Given the description of an element on the screen output the (x, y) to click on. 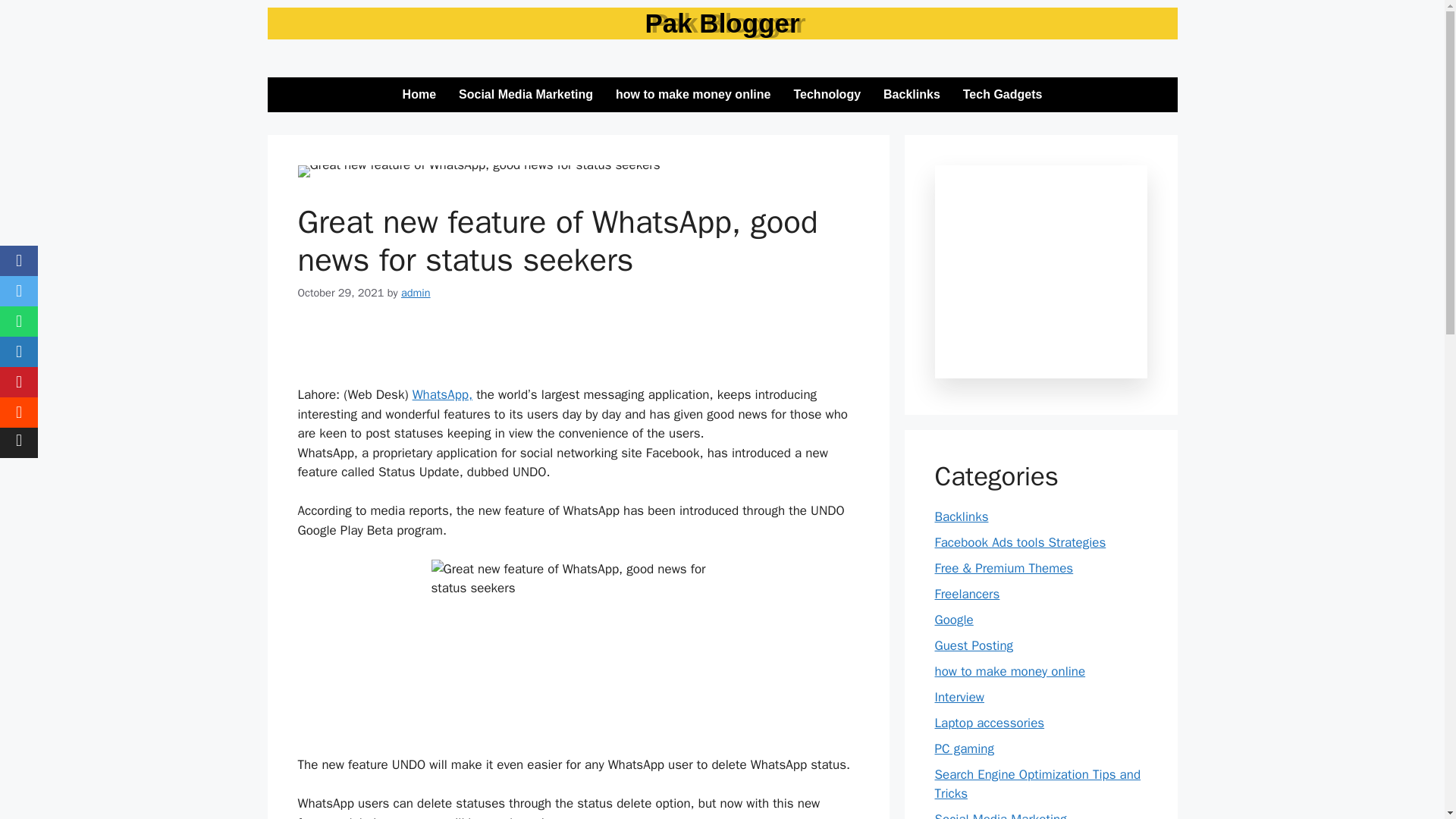
WhatsApp, (441, 394)
Social Media Marketing (999, 815)
Search Engine Optimization Tips and Tricks (1037, 783)
Facebook Ads tools Strategies (1019, 541)
Pak Blogger (721, 23)
how to make money online (692, 94)
Google (953, 618)
Laptop accessories (988, 722)
admin (415, 292)
Interview (959, 696)
Guest Posting (973, 644)
Home (418, 94)
Technology (826, 94)
Tech Gadgets (1003, 94)
Backlinks (961, 515)
